Given the description of an element on the screen output the (x, y) to click on. 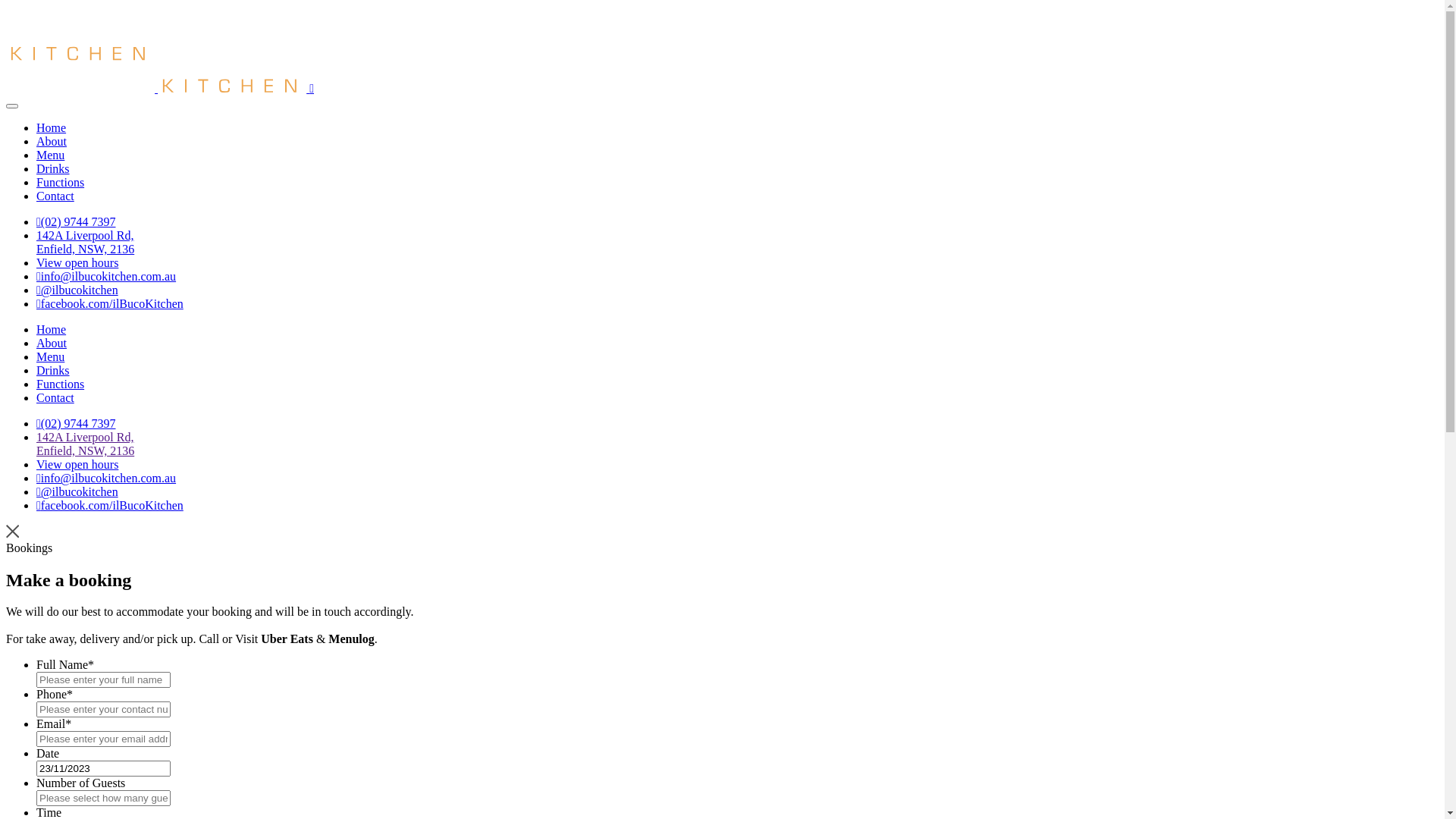
@ilbucokitchen Element type: text (77, 491)
Drinks Element type: text (52, 168)
View open hours Element type: text (77, 262)
Home Element type: text (50, 127)
facebook.com/ilBucoKitchen Element type: text (109, 303)
facebook.com/ilBucoKitchen Element type: text (109, 504)
Menu Element type: text (50, 356)
View open hours Element type: text (77, 464)
About Element type: text (51, 140)
Functions Element type: text (60, 181)
142A Liverpool Rd,
Enfield, NSW, 2136 Element type: text (85, 443)
Home Element type: text (50, 329)
142A Liverpool Rd,
Enfield, NSW, 2136 Element type: text (85, 242)
Menu Element type: text (50, 154)
(02) 9744 7397 Element type: text (76, 423)
info@ilbucokitchen.com.au Element type: text (105, 275)
About Element type: text (51, 342)
Contact Element type: text (55, 397)
info@ilbucokitchen.com.au Element type: text (105, 477)
@ilbucokitchen Element type: text (77, 289)
Functions Element type: text (60, 383)
(02) 9744 7397 Element type: text (76, 221)
Contact Element type: text (55, 195)
Drinks Element type: text (52, 370)
